Given the description of an element on the screen output the (x, y) to click on. 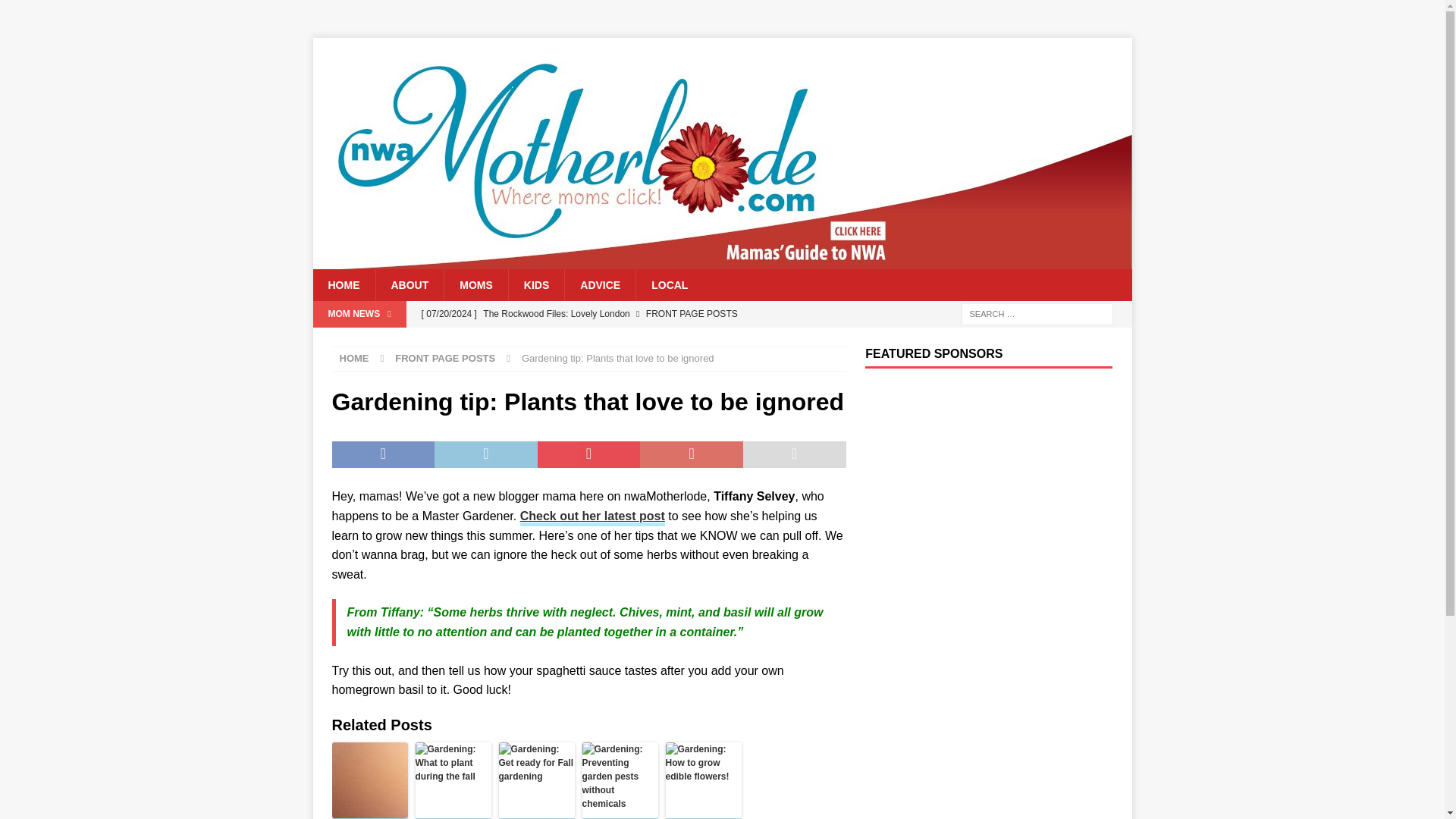
LOCAL (668, 285)
Check out her latest post (592, 517)
FRONT PAGE POSTS (444, 357)
ADVICE (599, 285)
MOMS (476, 285)
KIDS (536, 285)
The Rockwood Files: Lovely London (629, 313)
Search (56, 11)
HOME (354, 357)
click to read post (592, 517)
ABOUT (409, 285)
HOME (343, 285)
